Given the description of an element on the screen output the (x, y) to click on. 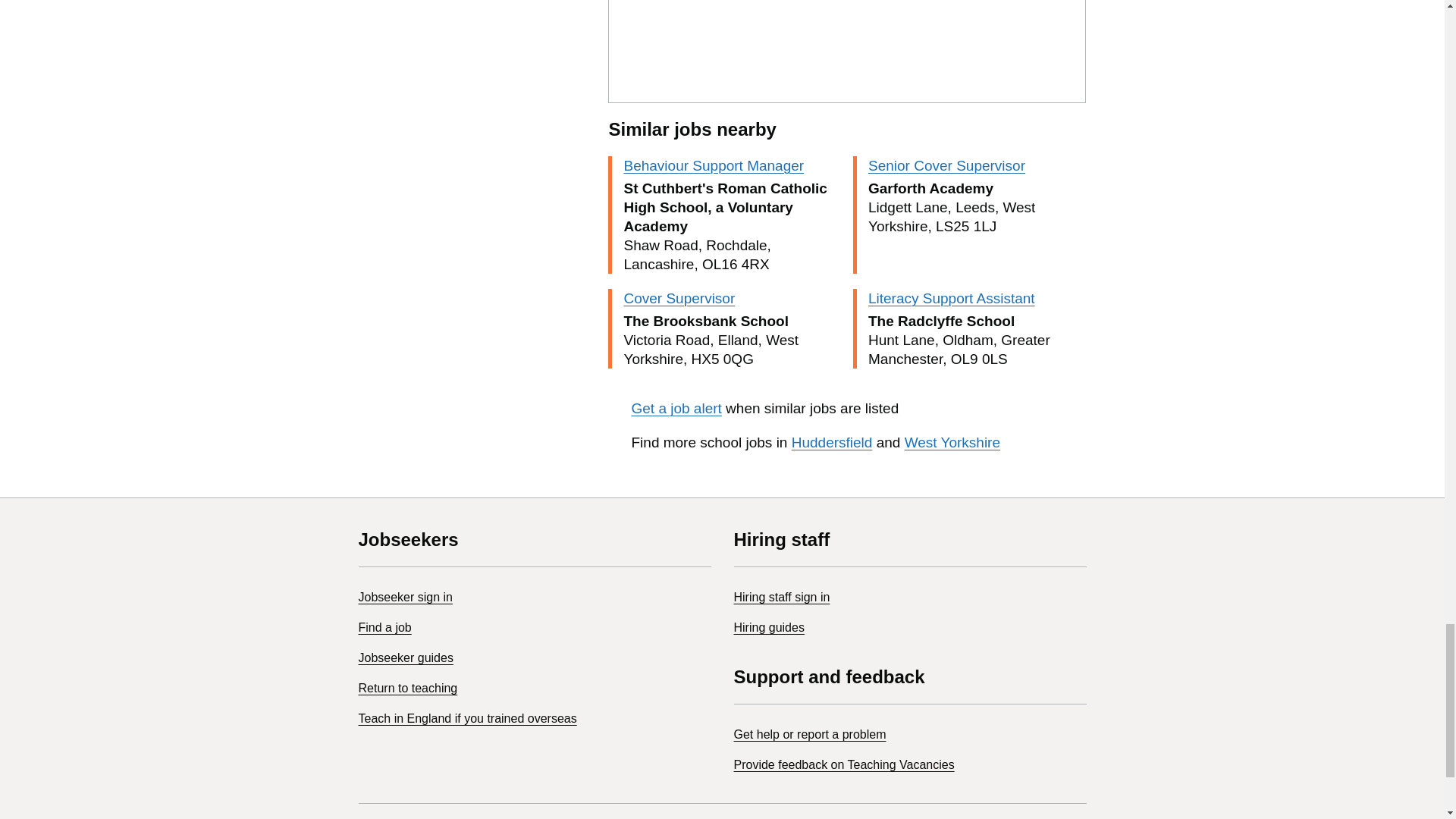
Get help or report a problem (809, 734)
Provide feedback on Teaching Vacancies (844, 764)
Behaviour Support Manager (713, 165)
Literacy Support Assistant (951, 298)
Huddersfield (832, 442)
Find a job (384, 626)
Return to teaching (407, 687)
Jobseeker sign in (405, 596)
Hiring guides (769, 626)
Teach in England if you trained overseas (467, 717)
